Given the description of an element on the screen output the (x, y) to click on. 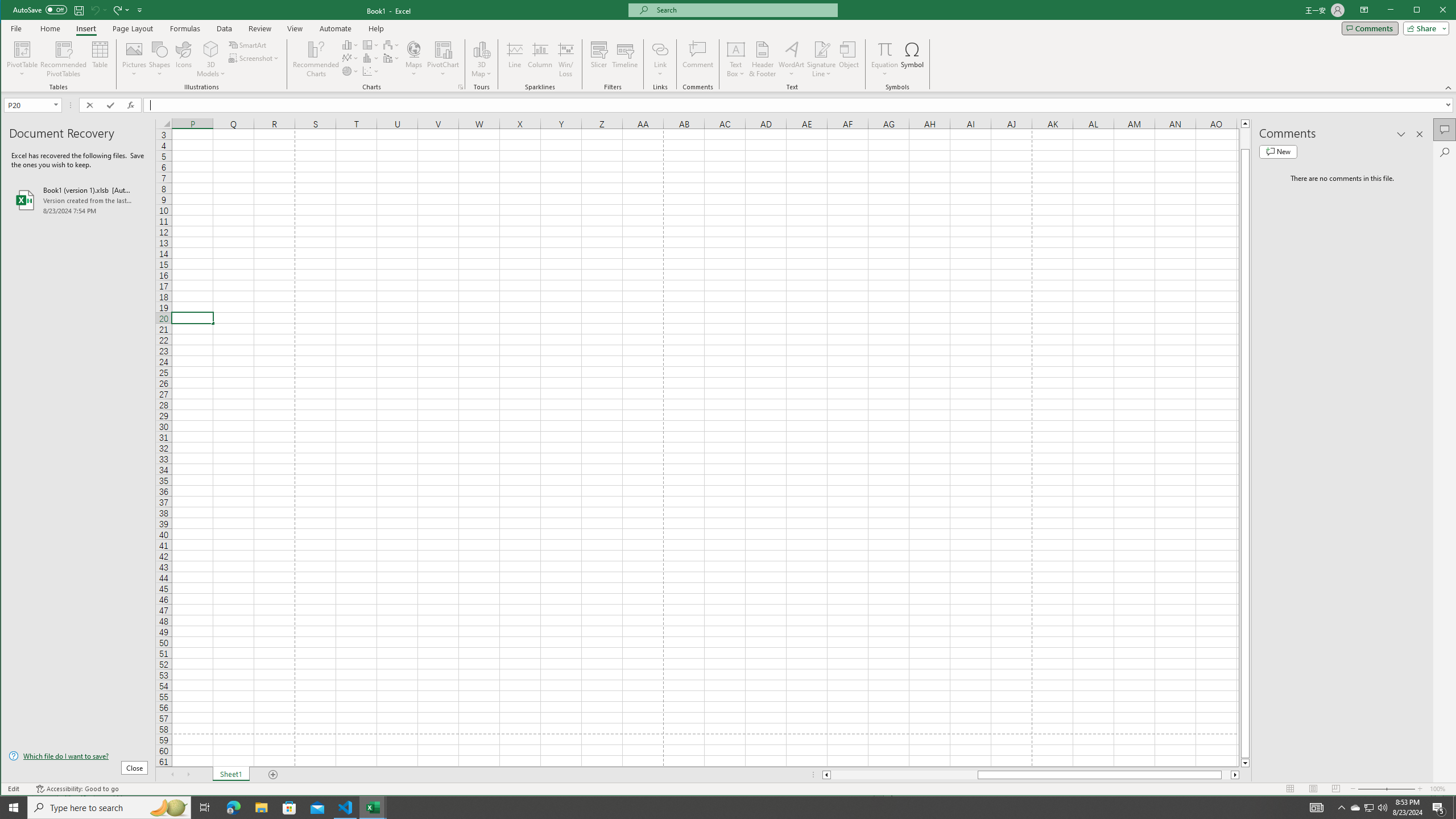
Save (79, 9)
Notification Chevron (1341, 807)
Microsoft search (742, 10)
Insert Scatter (X, Y) or Bubble Chart (371, 70)
3D Models (211, 59)
Page up (1245, 138)
Object... (848, 59)
Insert Pie or Doughnut Chart (350, 70)
Microsoft Edge (233, 807)
Search (1444, 151)
View (294, 28)
Shapes (159, 59)
